Given the description of an element on the screen output the (x, y) to click on. 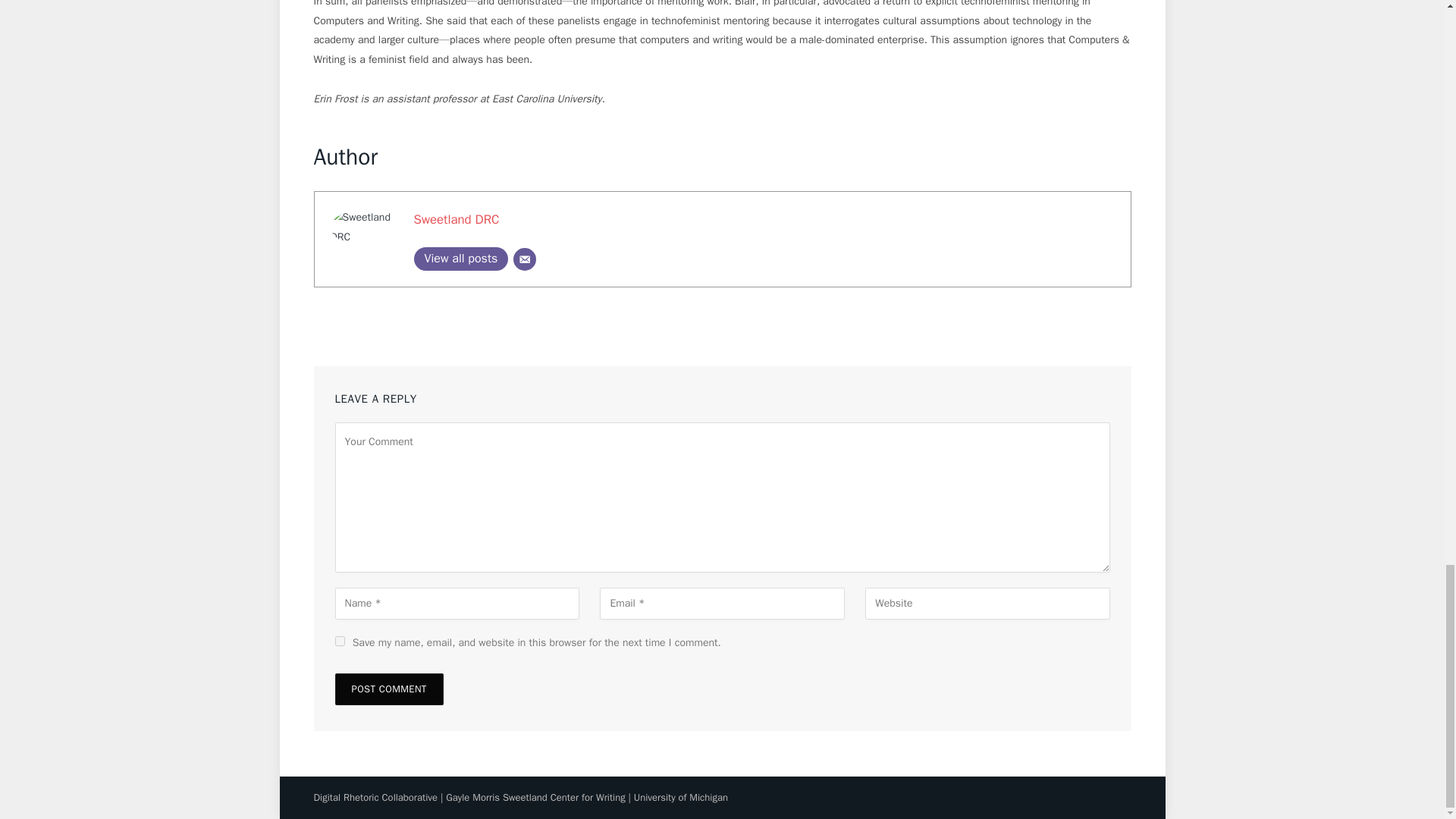
View all posts (460, 259)
Sweetland DRC (456, 219)
yes (339, 641)
Post Comment (389, 689)
